Given the description of an element on the screen output the (x, y) to click on. 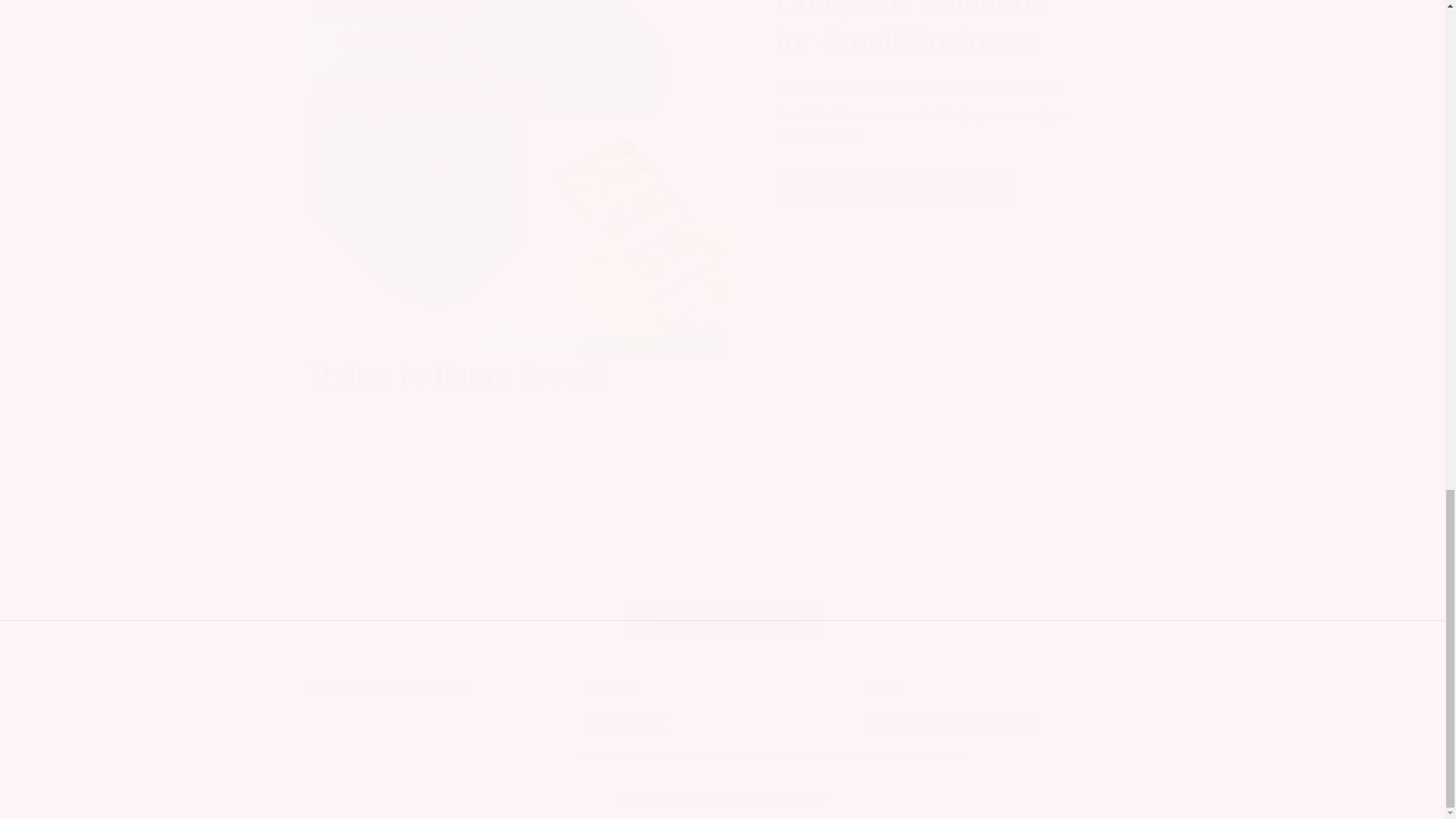
Skyeblue Marketing (696, 798)
Powered by Shopify (783, 798)
918-919-1697 (625, 721)
Contact us for a free consultation (722, 705)
Skyeblue Marketing 2023 (893, 188)
Let's have a conversation (441, 705)
